Given the description of an element on the screen output the (x, y) to click on. 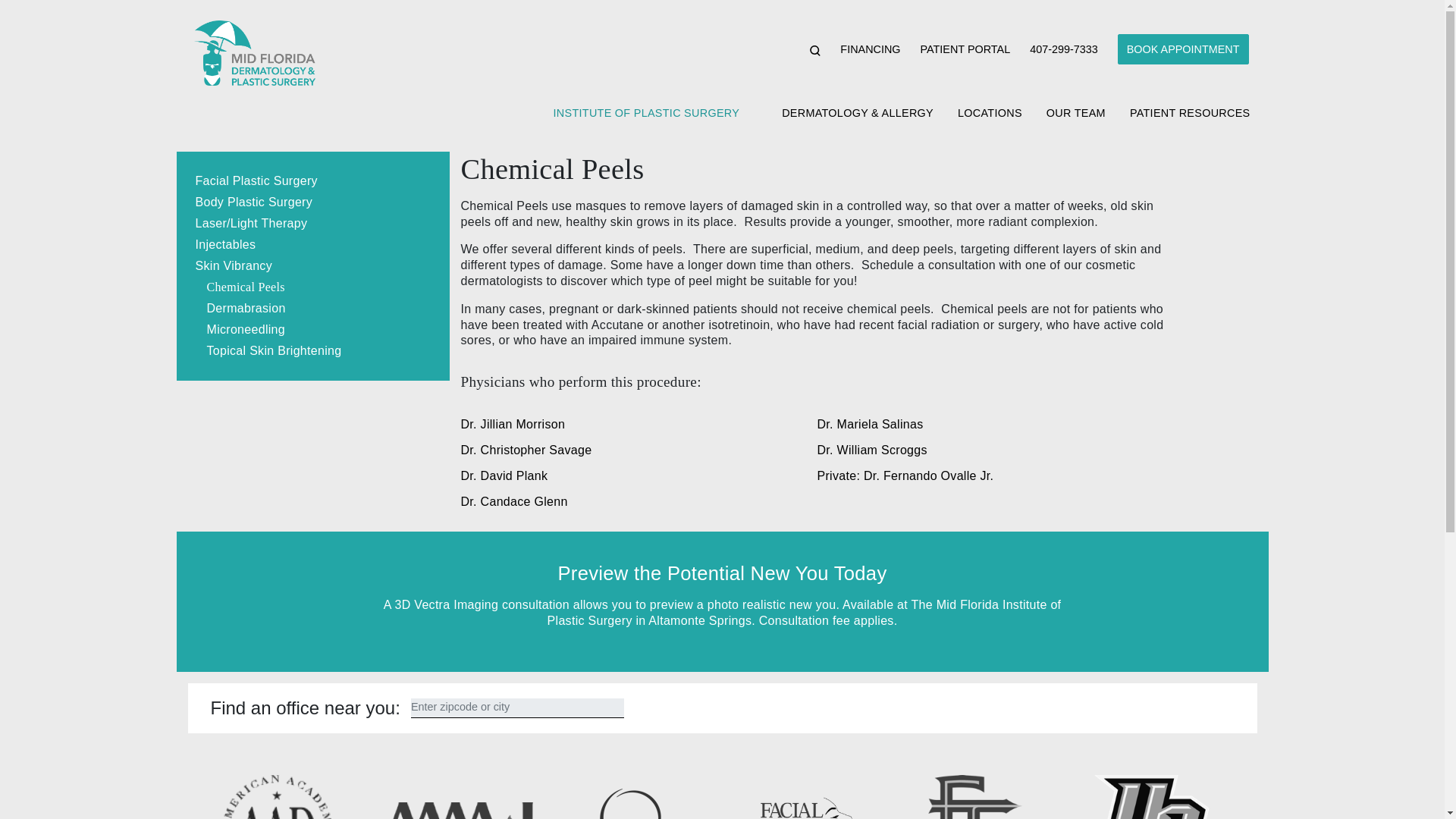
home (253, 52)
FINANCING (869, 49)
PATIENT PORTAL (965, 49)
407-299-7333 (1063, 49)
INSTITUTE OF PLASTIC SURGERY (640, 117)
